Given the description of an element on the screen output the (x, y) to click on. 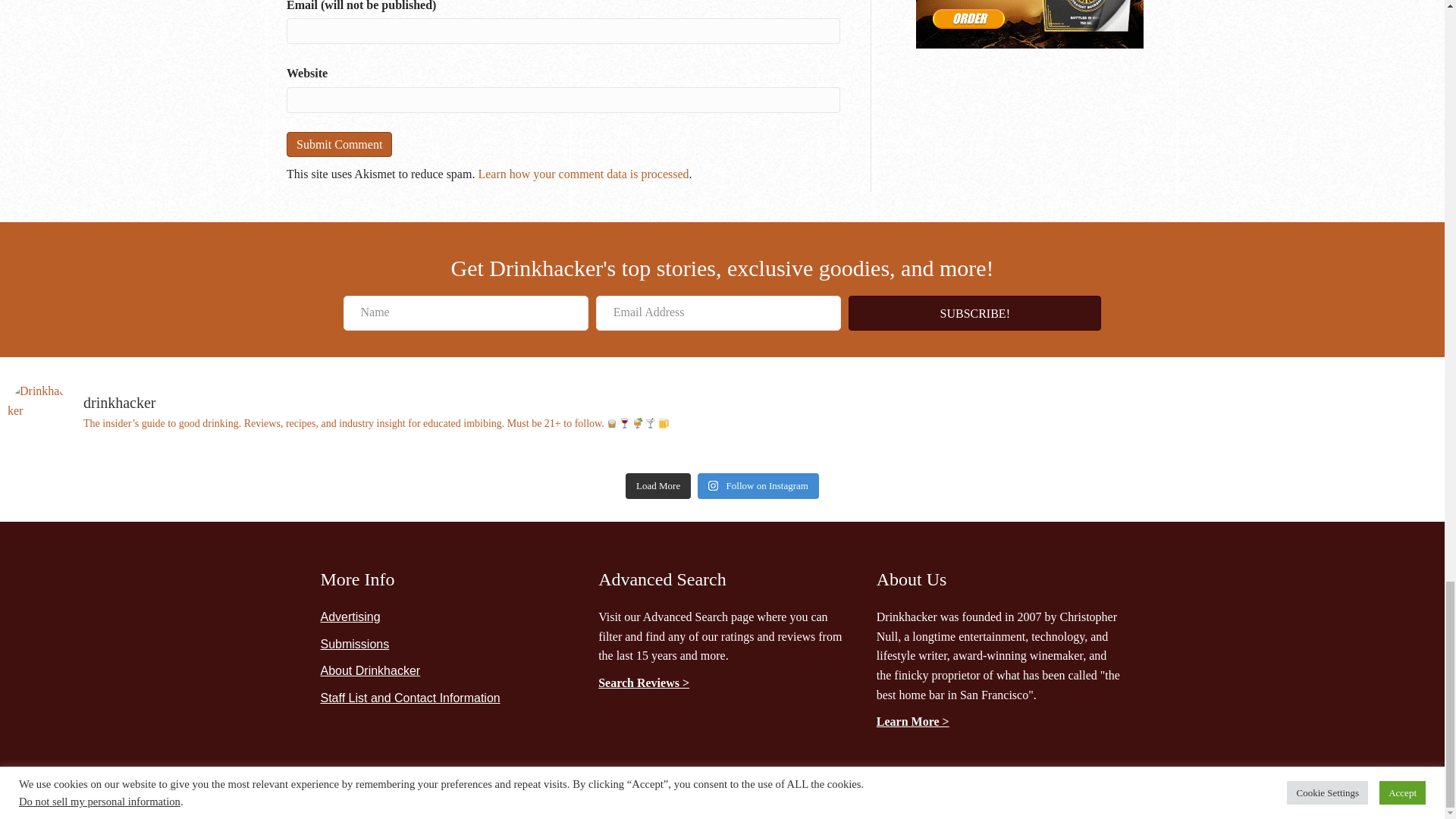
Submit Comment (338, 144)
